Given the description of an element on the screen output the (x, y) to click on. 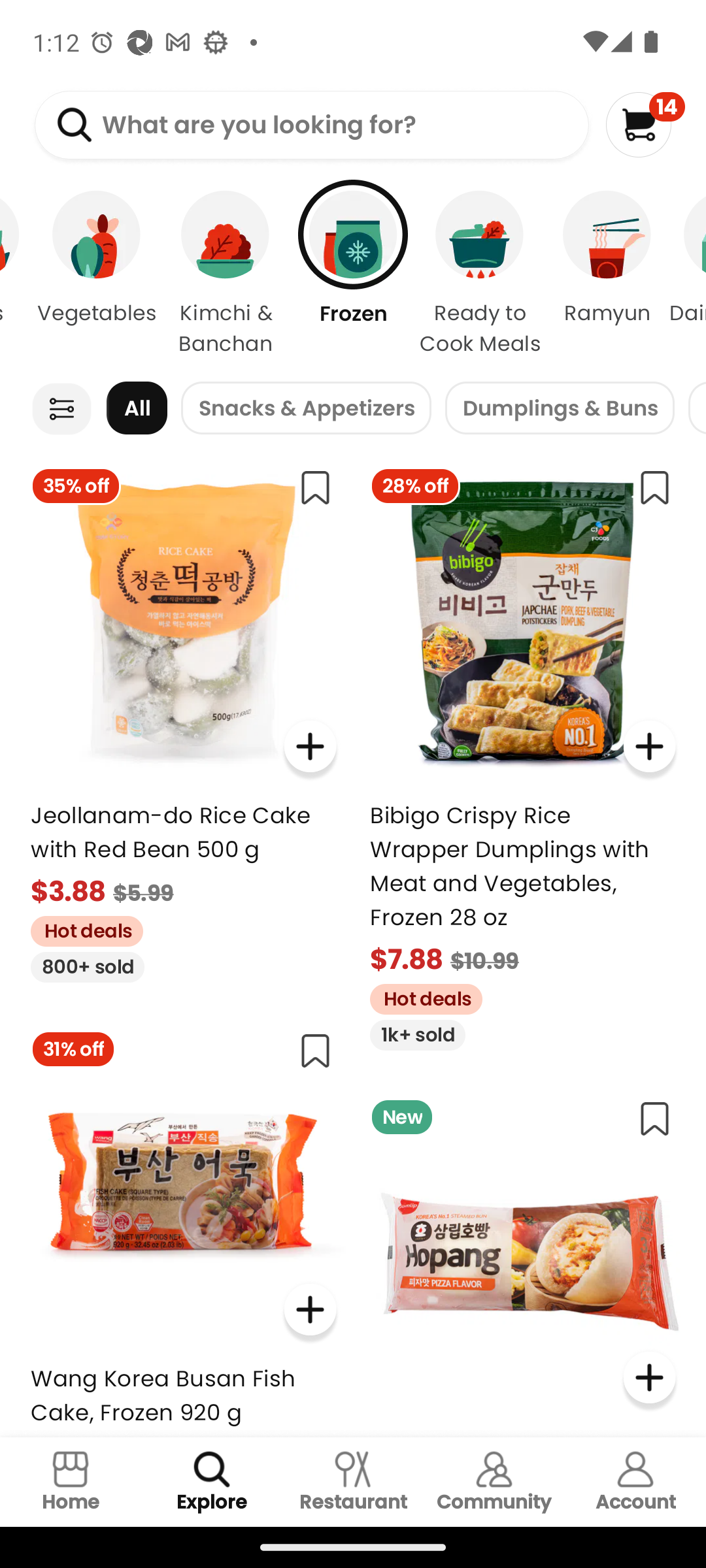
What are you looking for? (311, 124)
14 (644, 124)
Vegetables (96, 274)
Kimchi & Banchan (225, 274)
Frozen (352, 274)
Ready to Cook Meals (480, 274)
Ramyun (607, 274)
All (136, 407)
Snacks & Appetizers (305, 407)
Dumplings & Buns (559, 407)
Hot deals (79, 929)
Hot deals (419, 996)
New SAMLIP Steamed Bun-Pizza 85-255 g (522, 1261)
Home (70, 1482)
Explore (211, 1482)
Restaurant (352, 1482)
Community (493, 1482)
Account (635, 1482)
